Given the description of an element on the screen output the (x, y) to click on. 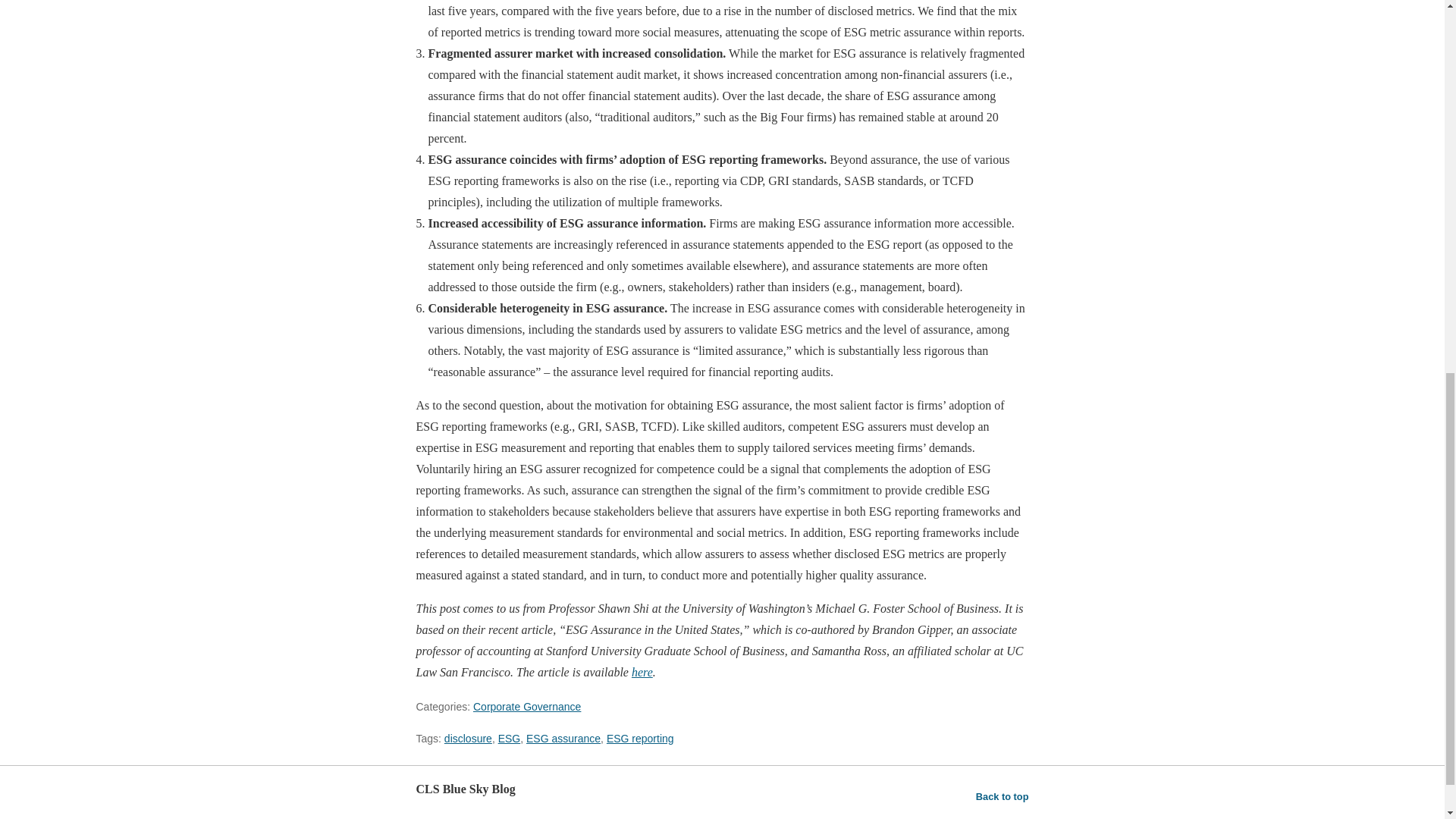
here (641, 671)
ESG assurance (562, 738)
disclosure (468, 738)
ESG reporting (640, 738)
Back to top (1002, 796)
Corporate Governance (526, 706)
ESG (509, 738)
